Given the description of an element on the screen output the (x, y) to click on. 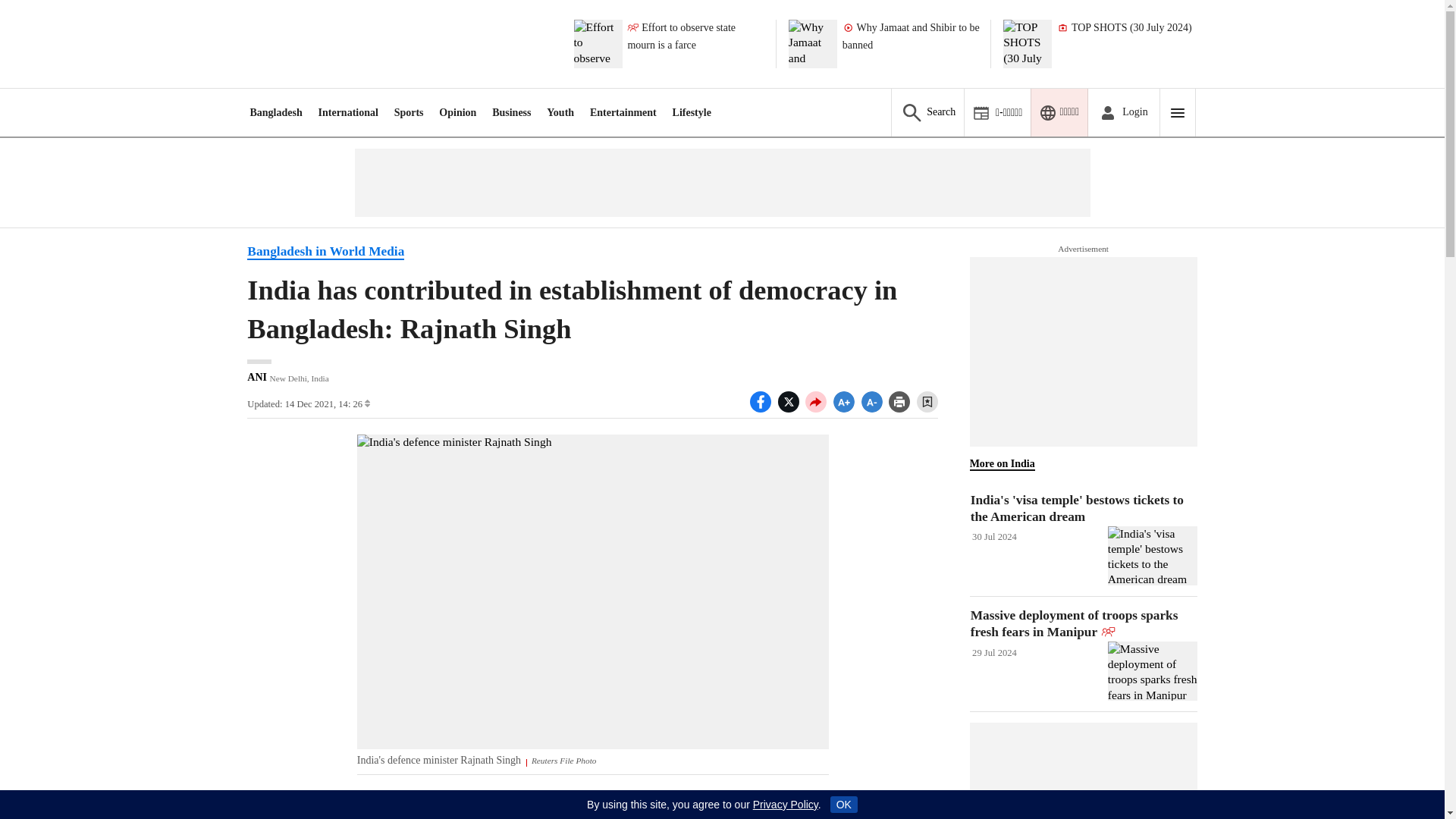
One-point demand for resignation of government announced (696, 43)
Bangladesh (274, 112)
Entertainment (622, 112)
Sports (408, 112)
Login (1122, 112)
Search (926, 112)
Jubo League carries out an attack on the students in Cumilla (911, 43)
International (348, 112)
OK (843, 804)
Business (511, 112)
